Given the description of an element on the screen output the (x, y) to click on. 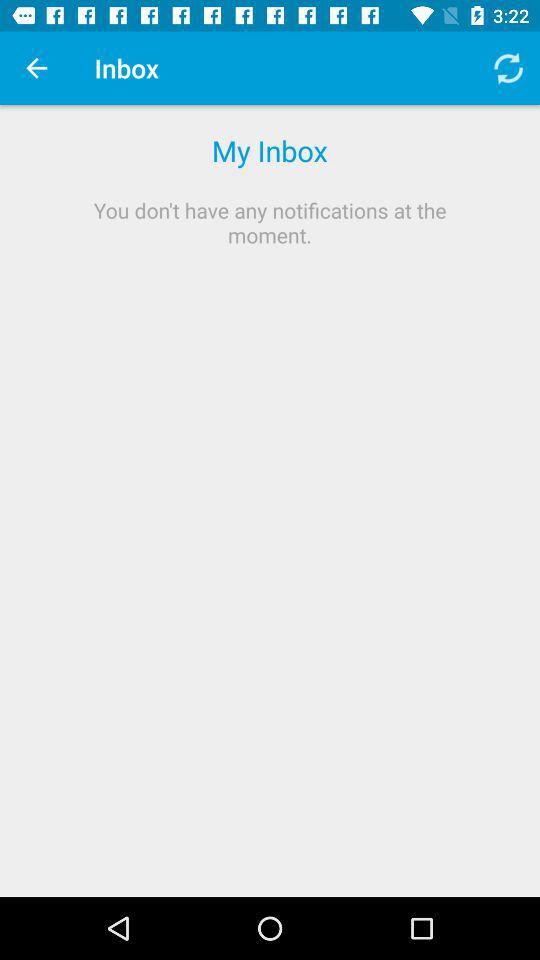
click the item next to the inbox item (36, 68)
